Given the description of an element on the screen output the (x, y) to click on. 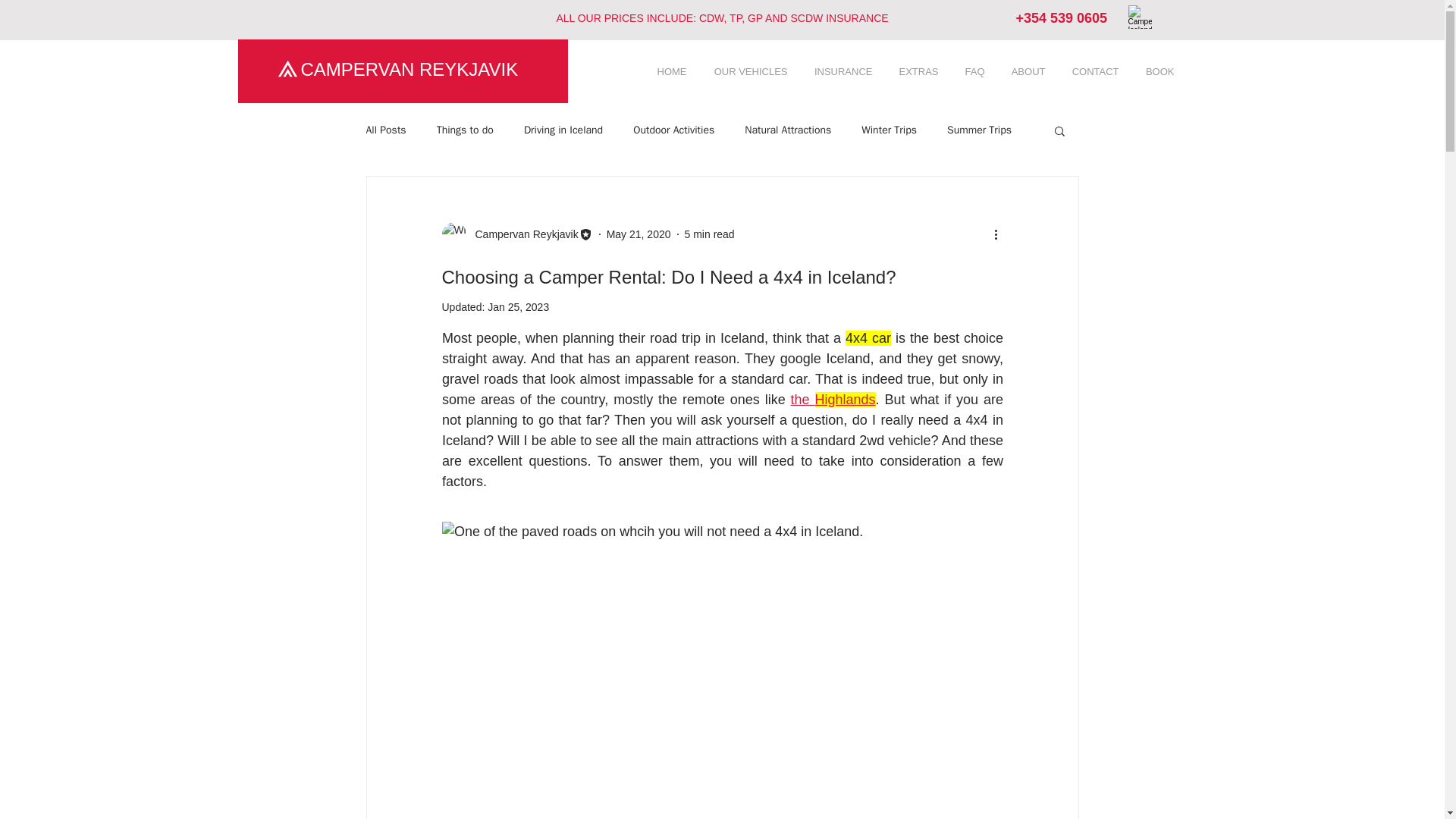
Winter Trips (889, 130)
INSURANCE (841, 71)
HOME (670, 71)
May 21, 2020 (639, 233)
Things to do (464, 130)
Driving in Iceland (563, 130)
All Posts (385, 130)
the  (801, 399)
Summer Trips (979, 130)
Jan 25, 2023 (517, 306)
